Given the description of an element on the screen output the (x, y) to click on. 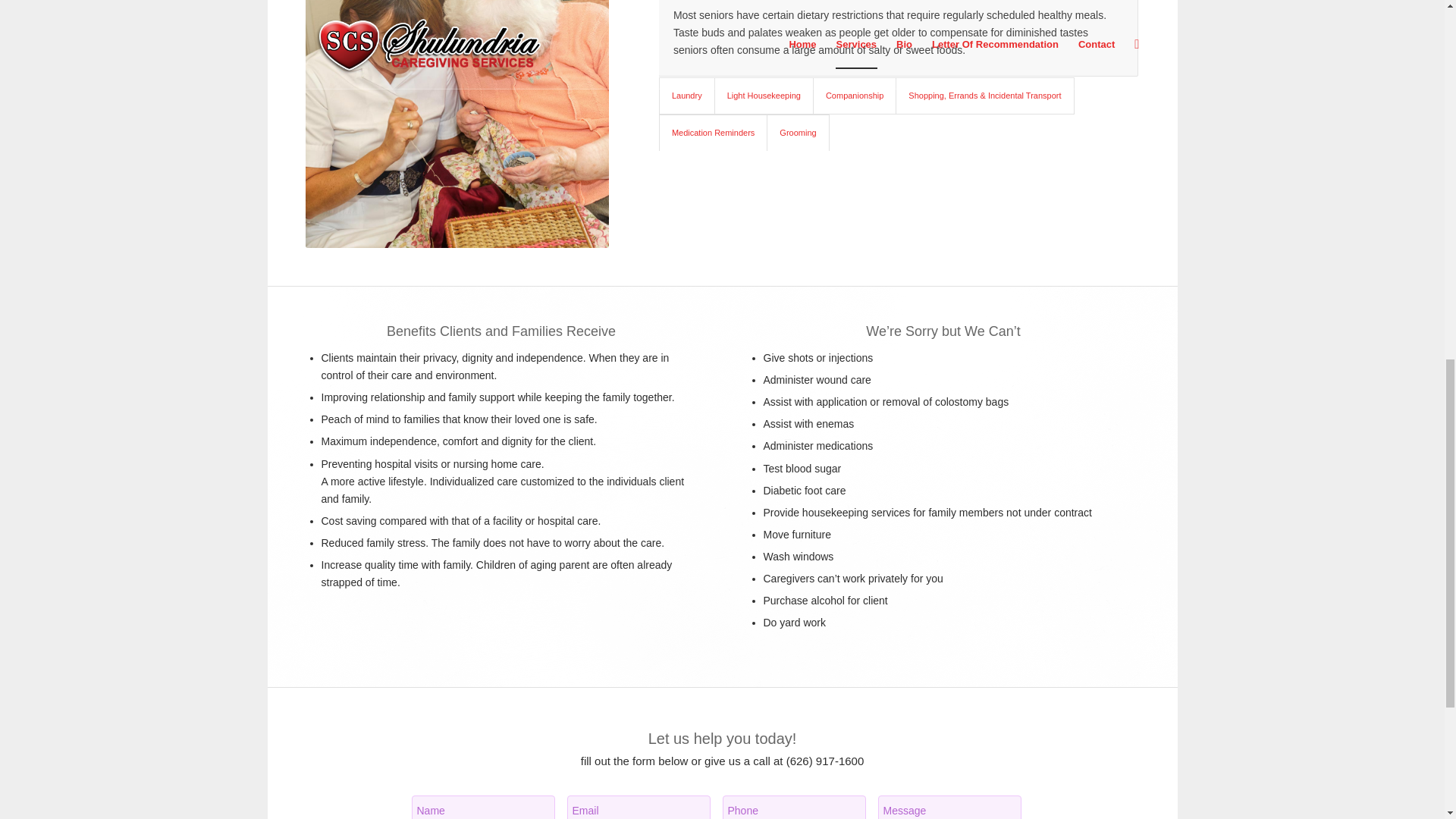
09 (456, 124)
